Given the description of an element on the screen output the (x, y) to click on. 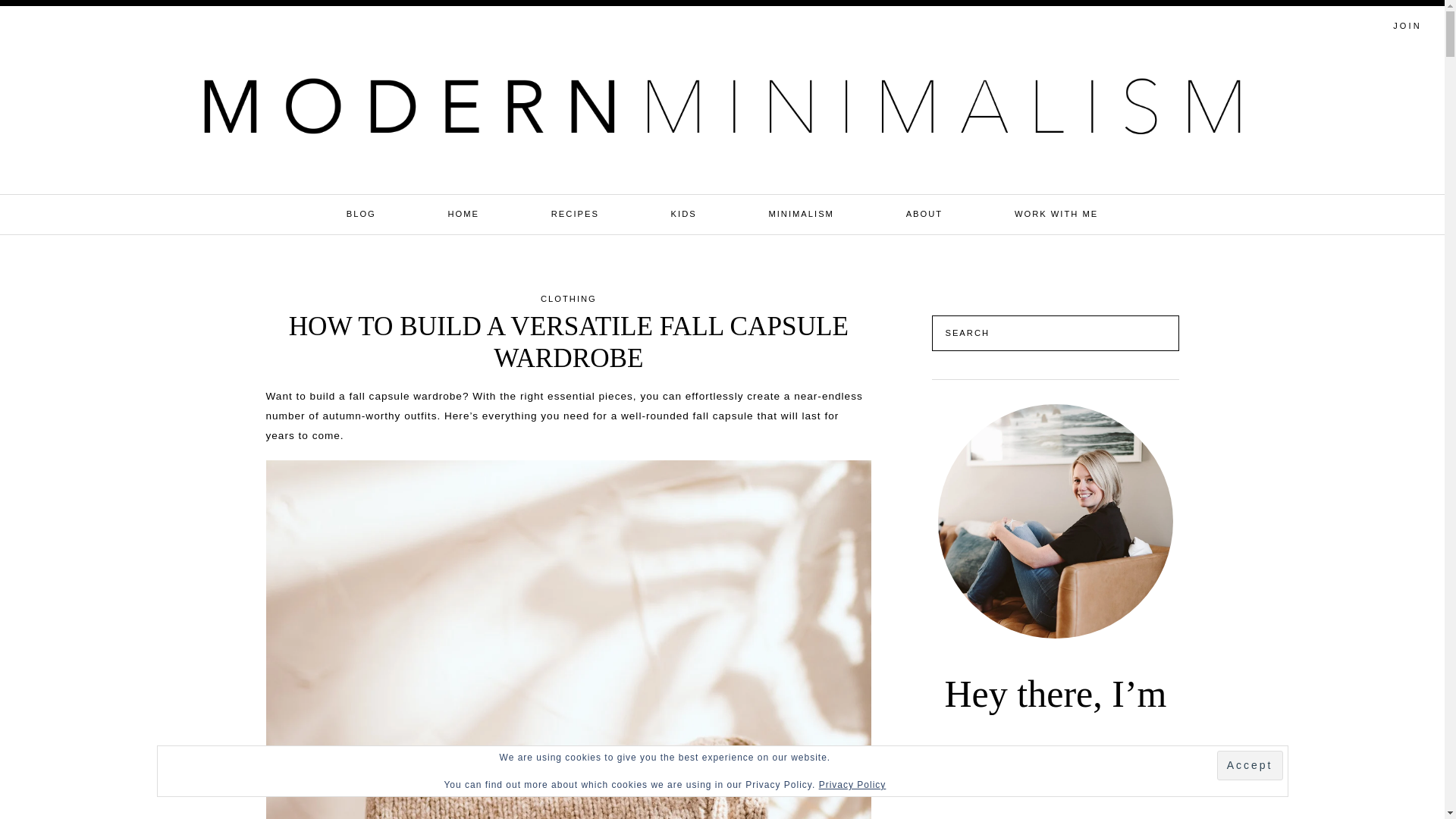
MINIMALISM (801, 214)
CLOTHING (568, 298)
Search for: (1319, 23)
WORK WITH ME (1055, 214)
Accept (1249, 765)
RECIPES (574, 214)
ABOUT (924, 214)
JOIN (1407, 25)
